Given the description of an element on the screen output the (x, y) to click on. 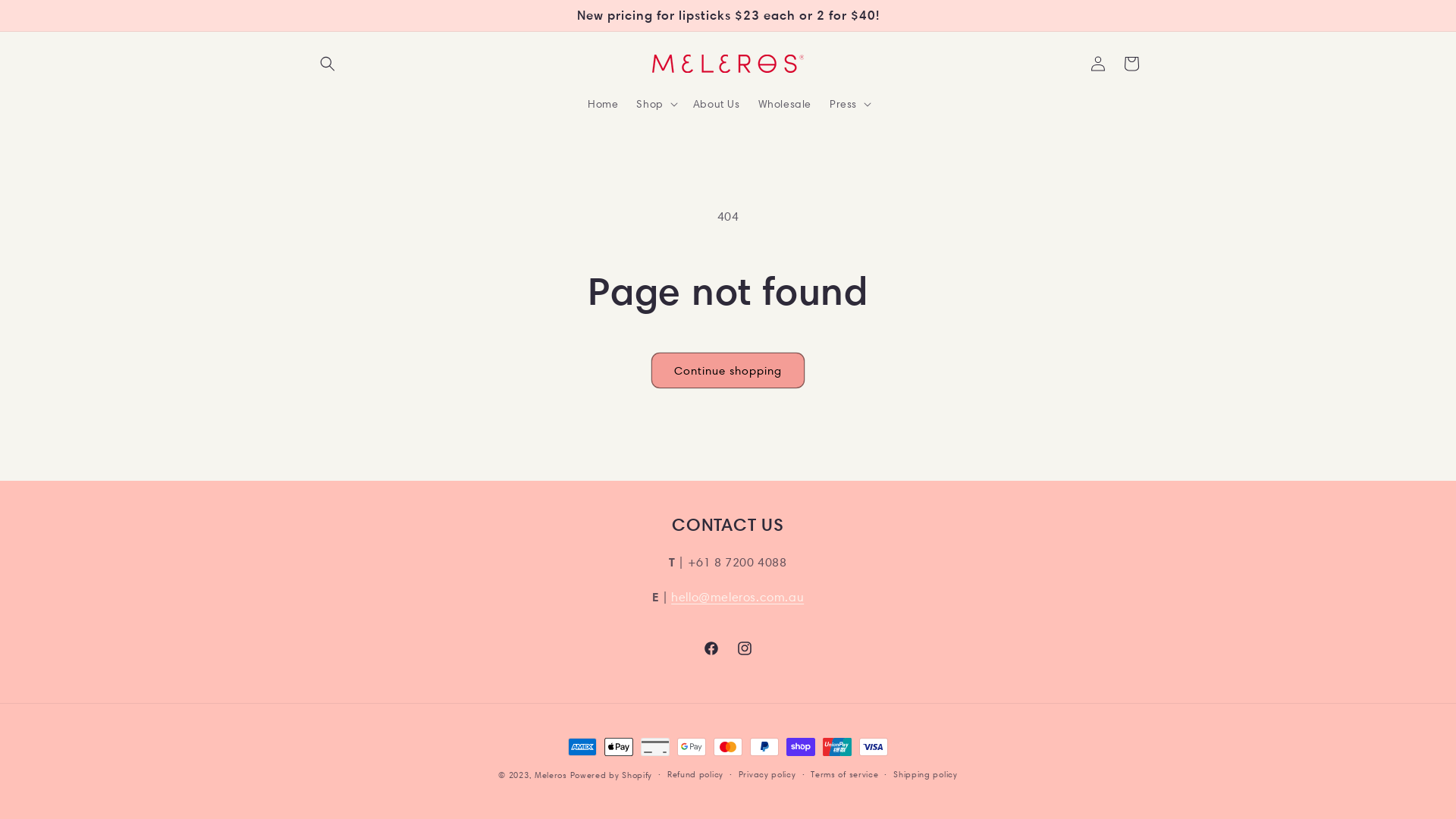
Terms of service Element type: text (844, 774)
Continue shopping Element type: text (727, 370)
Powered by Shopify Element type: text (611, 774)
About Us Element type: text (716, 103)
Meleros Element type: text (550, 774)
Instagram Element type: text (744, 648)
Log in Element type: text (1097, 63)
Cart Element type: text (1131, 63)
Privacy policy Element type: text (767, 774)
Refund policy Element type: text (695, 774)
Facebook Element type: text (711, 648)
Home Element type: text (602, 103)
hello@meleros.com.au Element type: text (737, 596)
Wholesale Element type: text (784, 103)
Shipping policy Element type: text (925, 774)
